Given the description of an element on the screen output the (x, y) to click on. 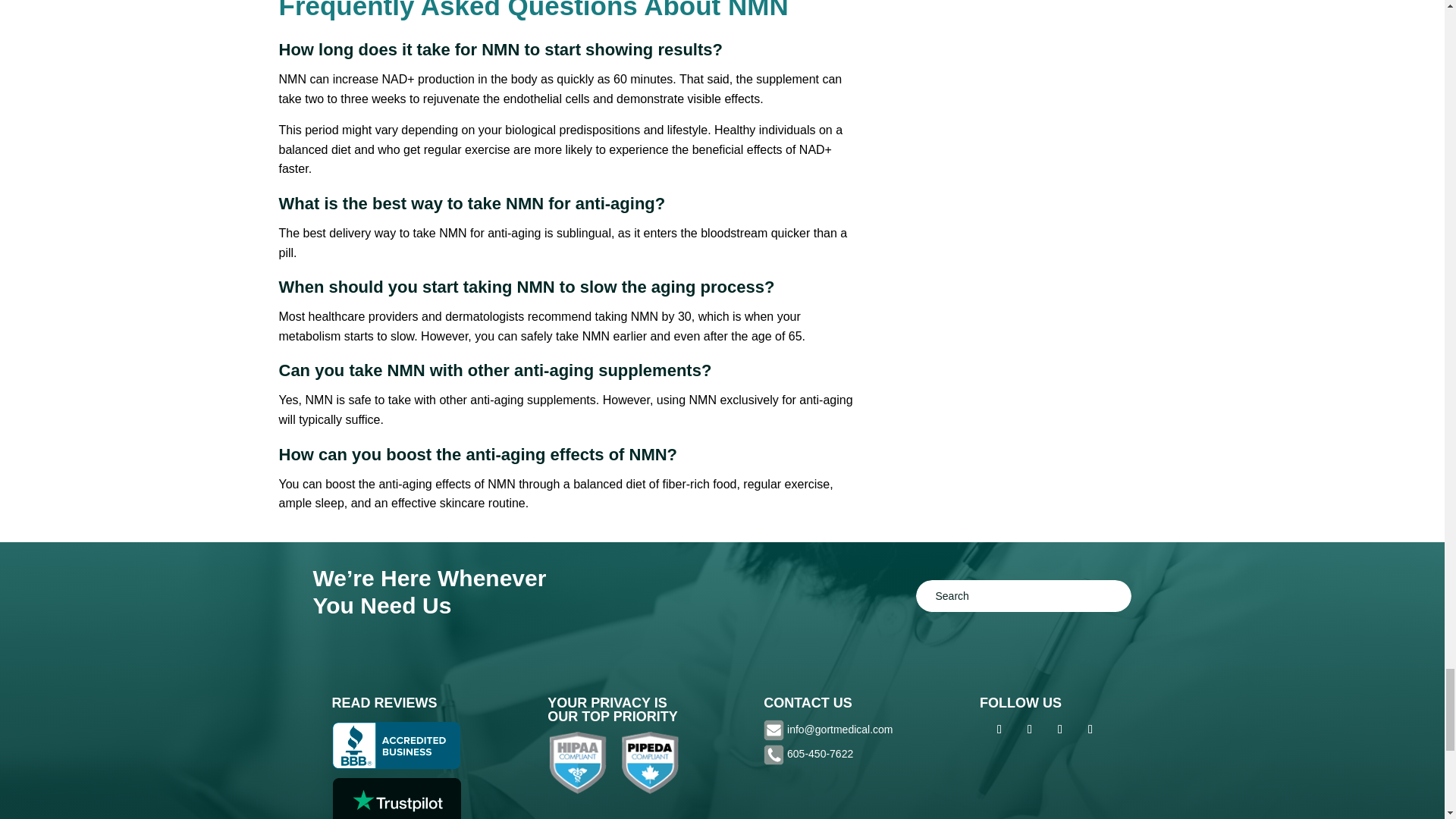
Follow on Facebook (999, 729)
Follow on LinkedIn (1090, 729)
Follow on X (1059, 729)
TRUSTPILOT1 (396, 798)
RT Medical Customer Support Line (820, 753)
RT-Med-Security-Privacy2 (613, 763)
Follow on Instagram (1029, 729)
BBB (396, 745)
